Given the description of an element on the screen output the (x, y) to click on. 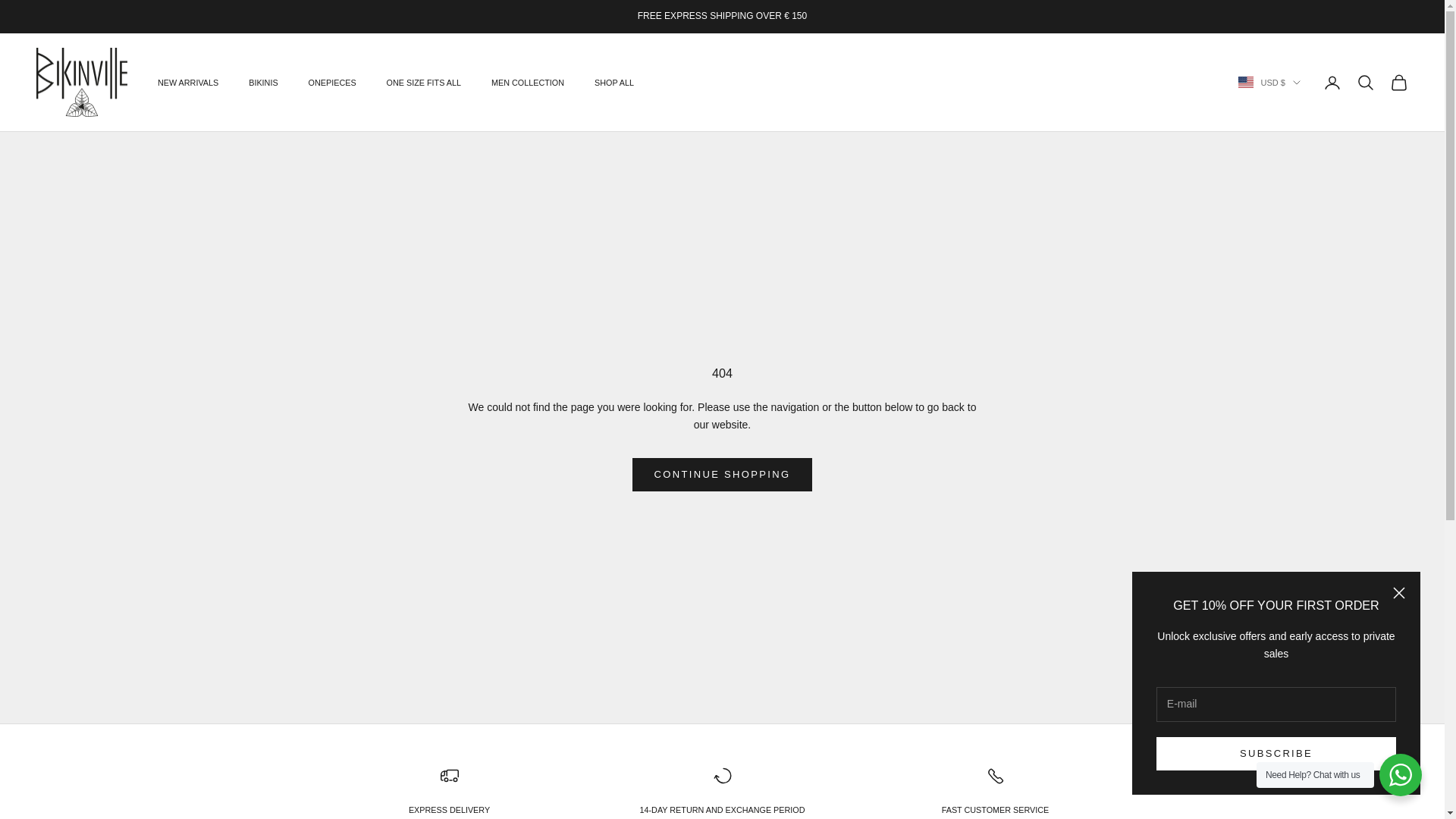
NEW ARRIVALS (187, 82)
Bikinville (82, 82)
ONE SIZE FITS ALL (424, 82)
SHOP ALL (613, 82)
ONEPIECES (332, 82)
Newsletter popup (1276, 682)
MEN COLLECTION (528, 82)
